Given the description of an element on the screen output the (x, y) to click on. 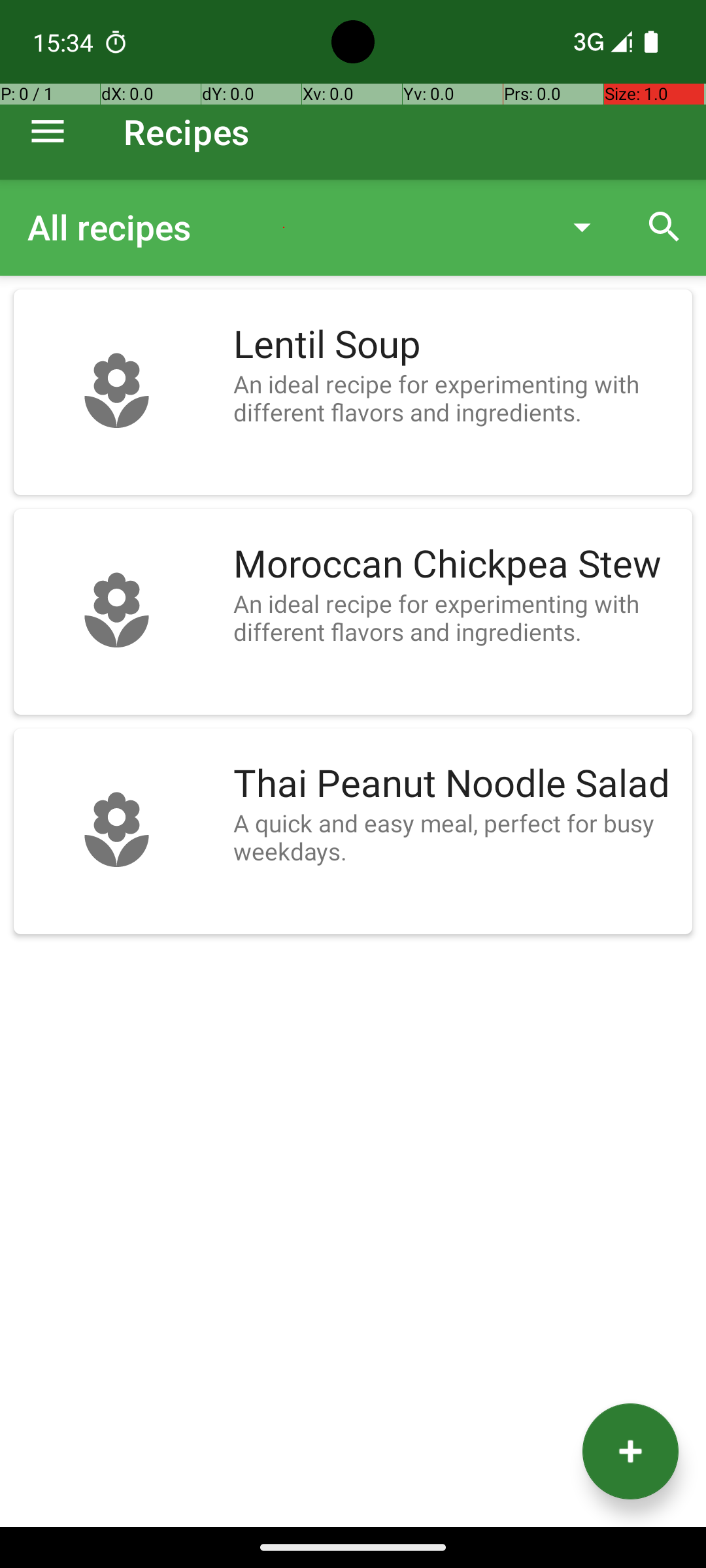
Thai Peanut Noodle Salad Element type: android.widget.TextView (455, 783)
